Given the description of an element on the screen output the (x, y) to click on. 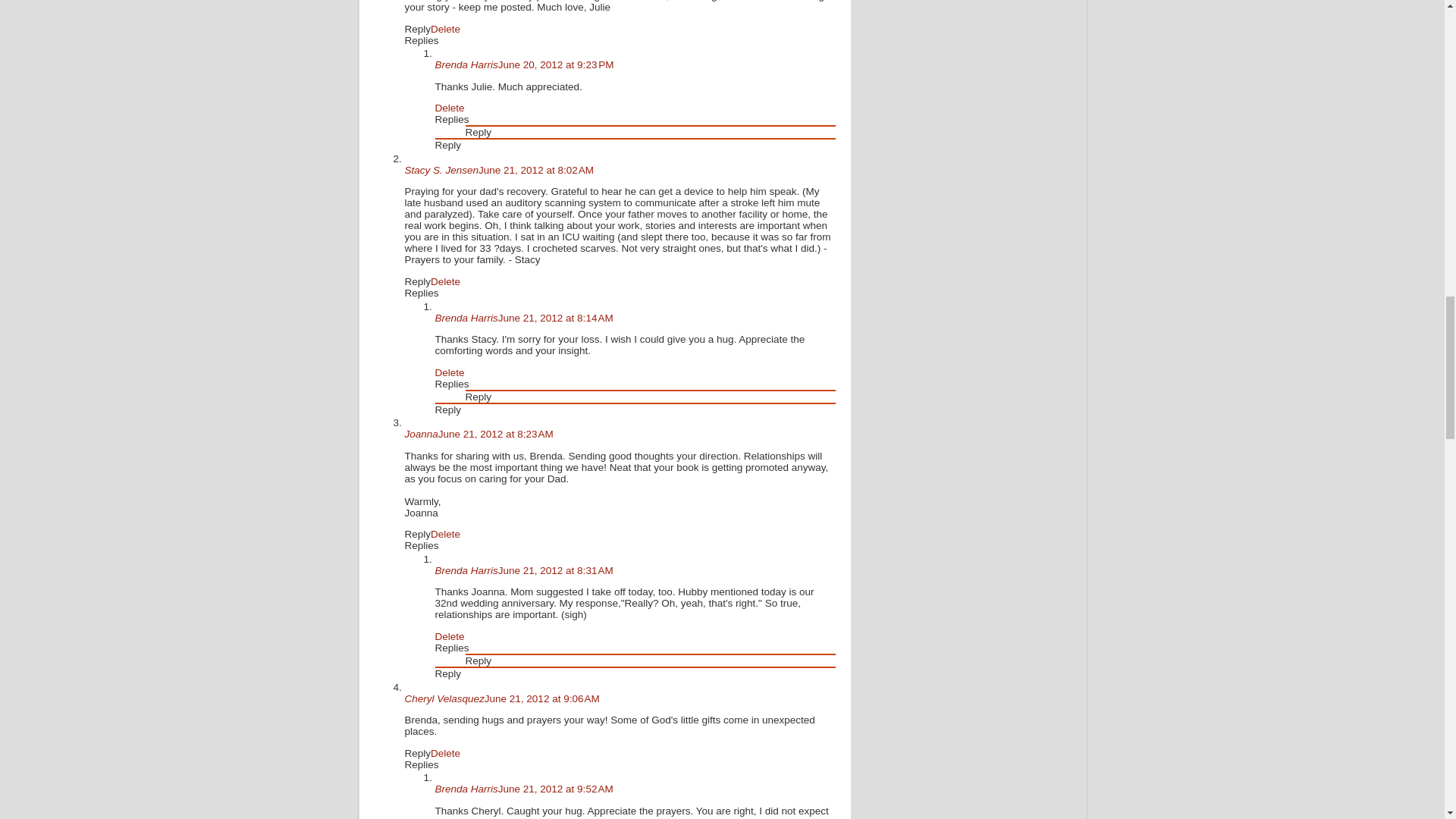
Delete (445, 533)
Reply (417, 533)
Joanna (421, 433)
Delete (449, 107)
Reply (448, 409)
Reply (417, 29)
Replies (421, 545)
Reply (417, 281)
Replies (451, 119)
Stacy S. Jensen (441, 170)
Brenda Harris (466, 64)
Delete (445, 281)
Delete (449, 372)
